Given the description of an element on the screen output the (x, y) to click on. 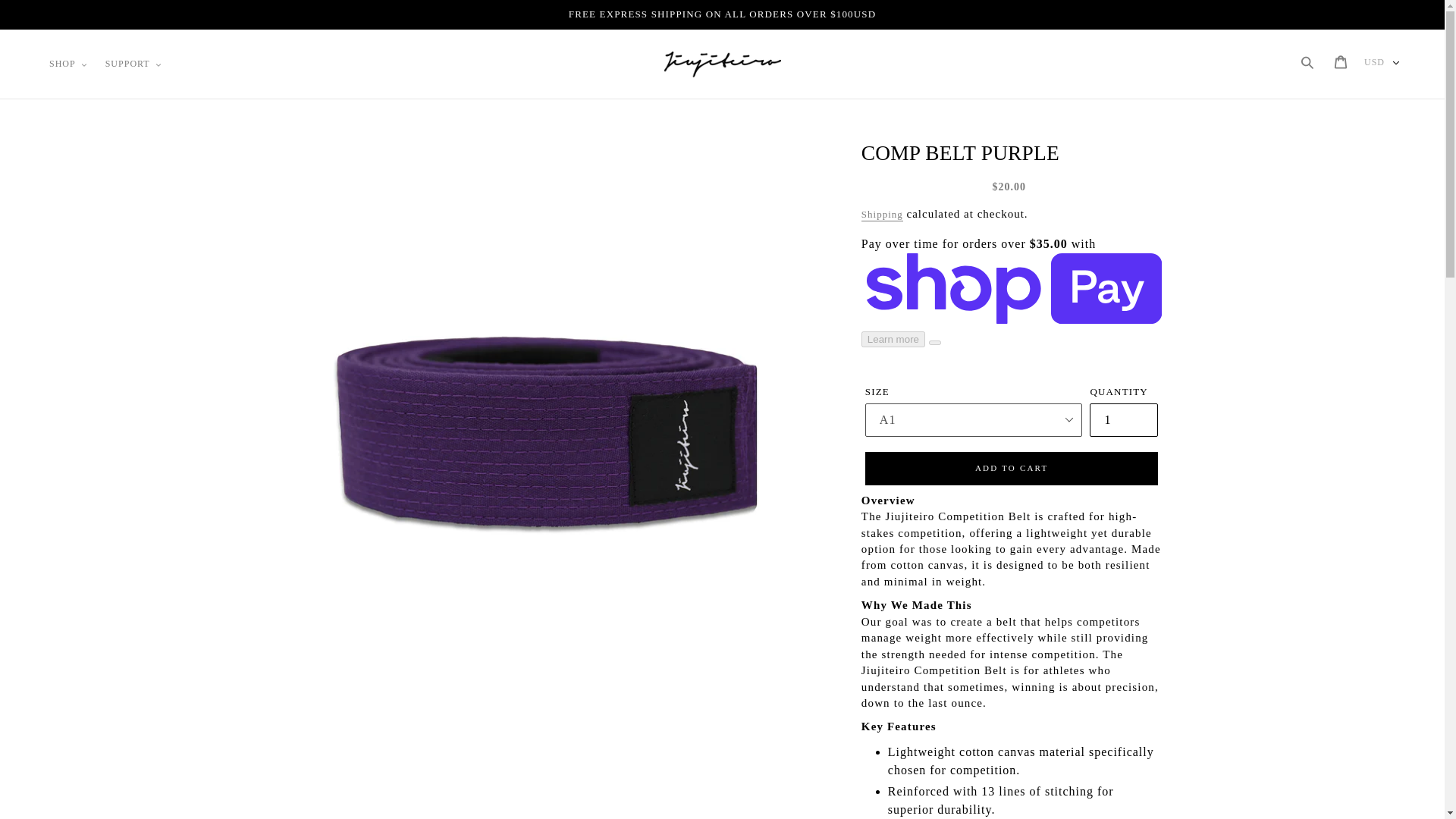
1 (1123, 419)
